Given the description of an element on the screen output the (x, y) to click on. 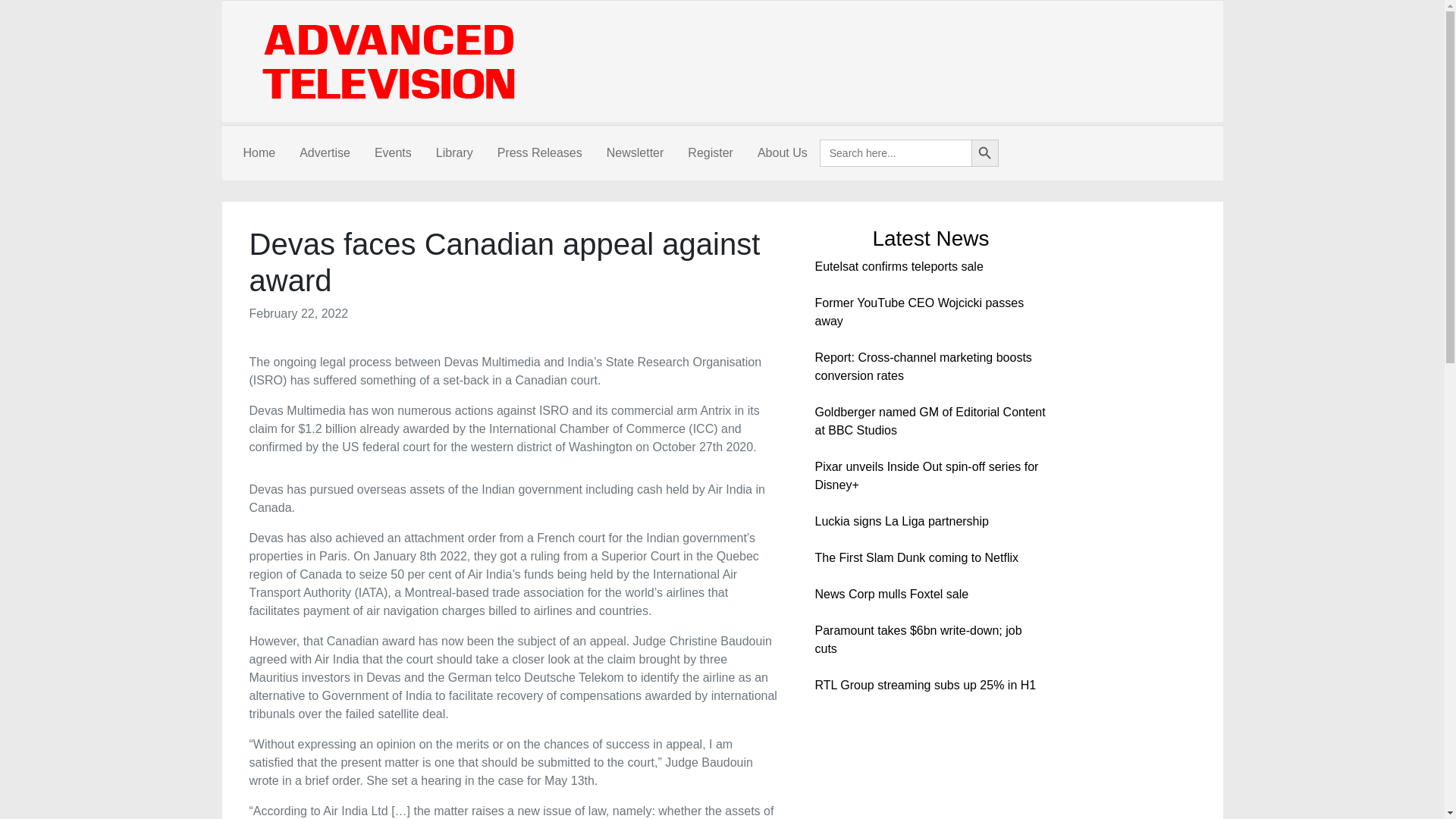
Newsletter (635, 153)
Advertise (324, 153)
Search Button (984, 153)
Register (710, 153)
About Us (782, 153)
Eutelsat confirms teleports sale (897, 266)
Library (453, 153)
Events (392, 153)
Home (258, 153)
Press Releases (539, 153)
